Given the description of an element on the screen output the (x, y) to click on. 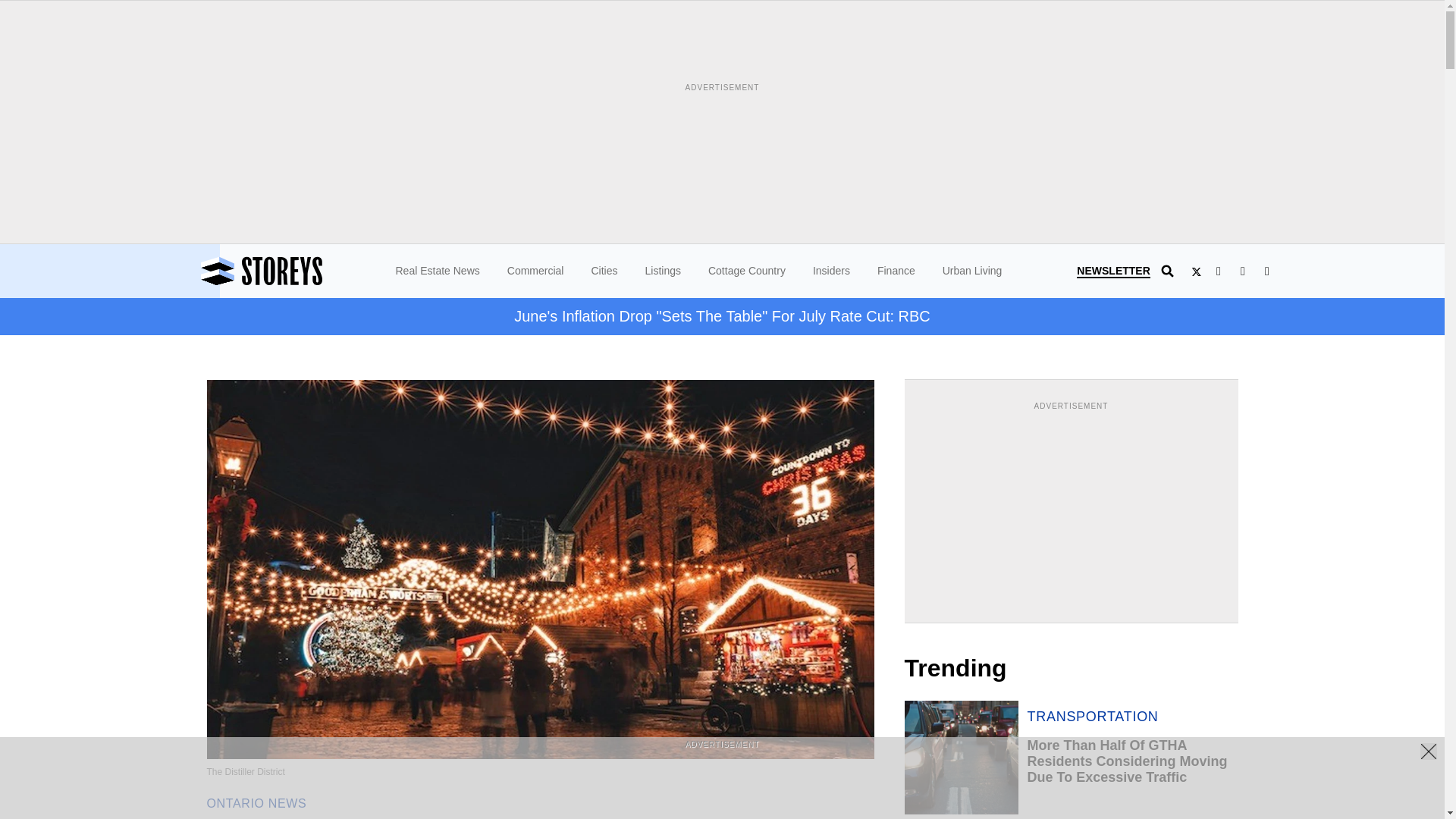
Listings (662, 270)
Cottage Country (746, 270)
3rd party ad content (721, 785)
3rd party ad content (1070, 507)
Real Estate News (437, 270)
Storeys - Real Estate News in Canada (302, 270)
3rd party ad content (721, 128)
Commercial (535, 270)
Cities (603, 270)
